Given the description of an element on the screen output the (x, y) to click on. 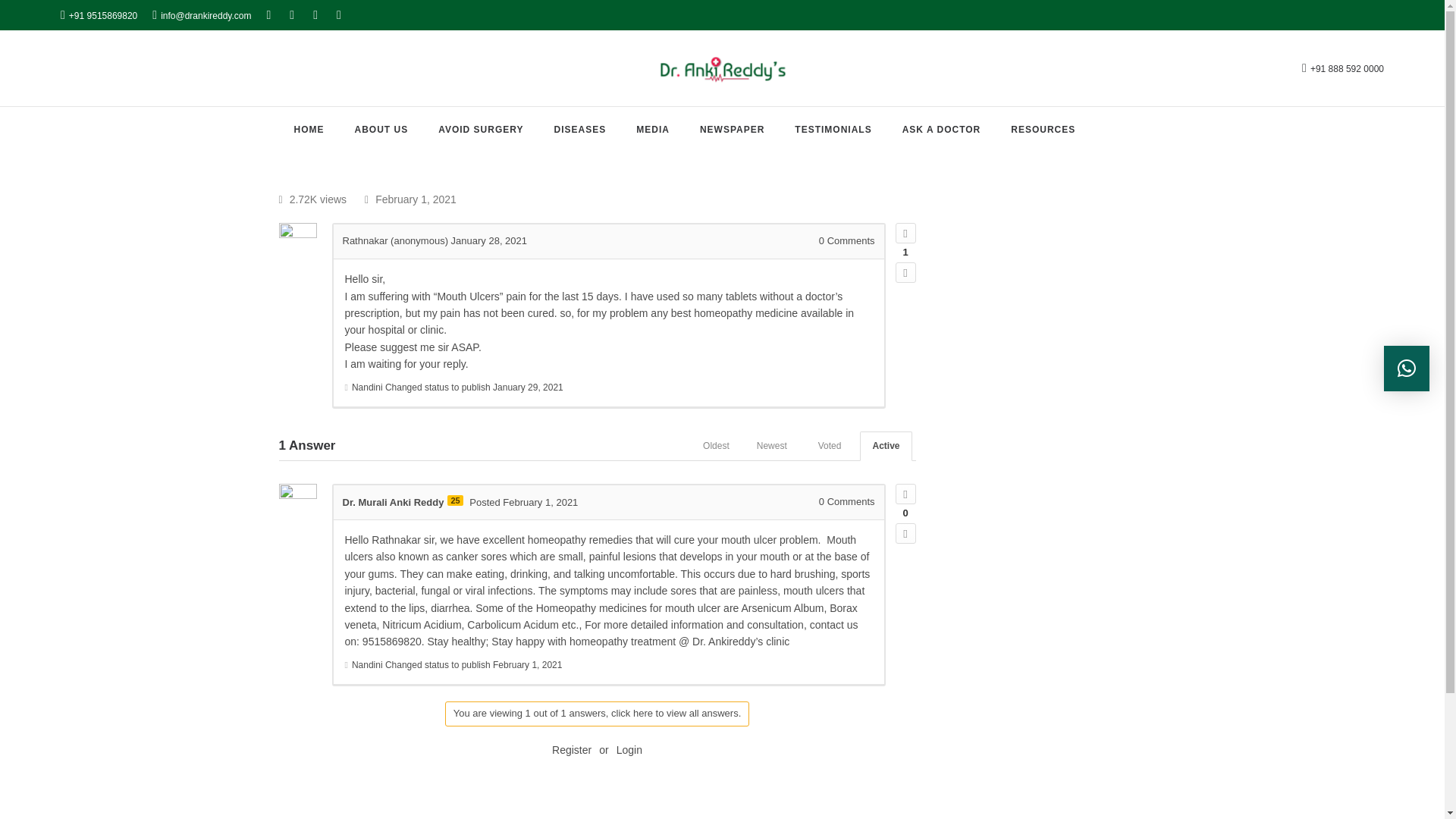
HOME (308, 129)
Up vote this post (905, 232)
AVOID SURGERY (480, 129)
TESTIMONIALS (832, 129)
Down vote this post (905, 272)
MEDIA (652, 129)
RESOURCES (1042, 129)
Down vote this post (905, 533)
Up vote this post (905, 494)
NEWSPAPER (732, 129)
